Given the description of an element on the screen output the (x, y) to click on. 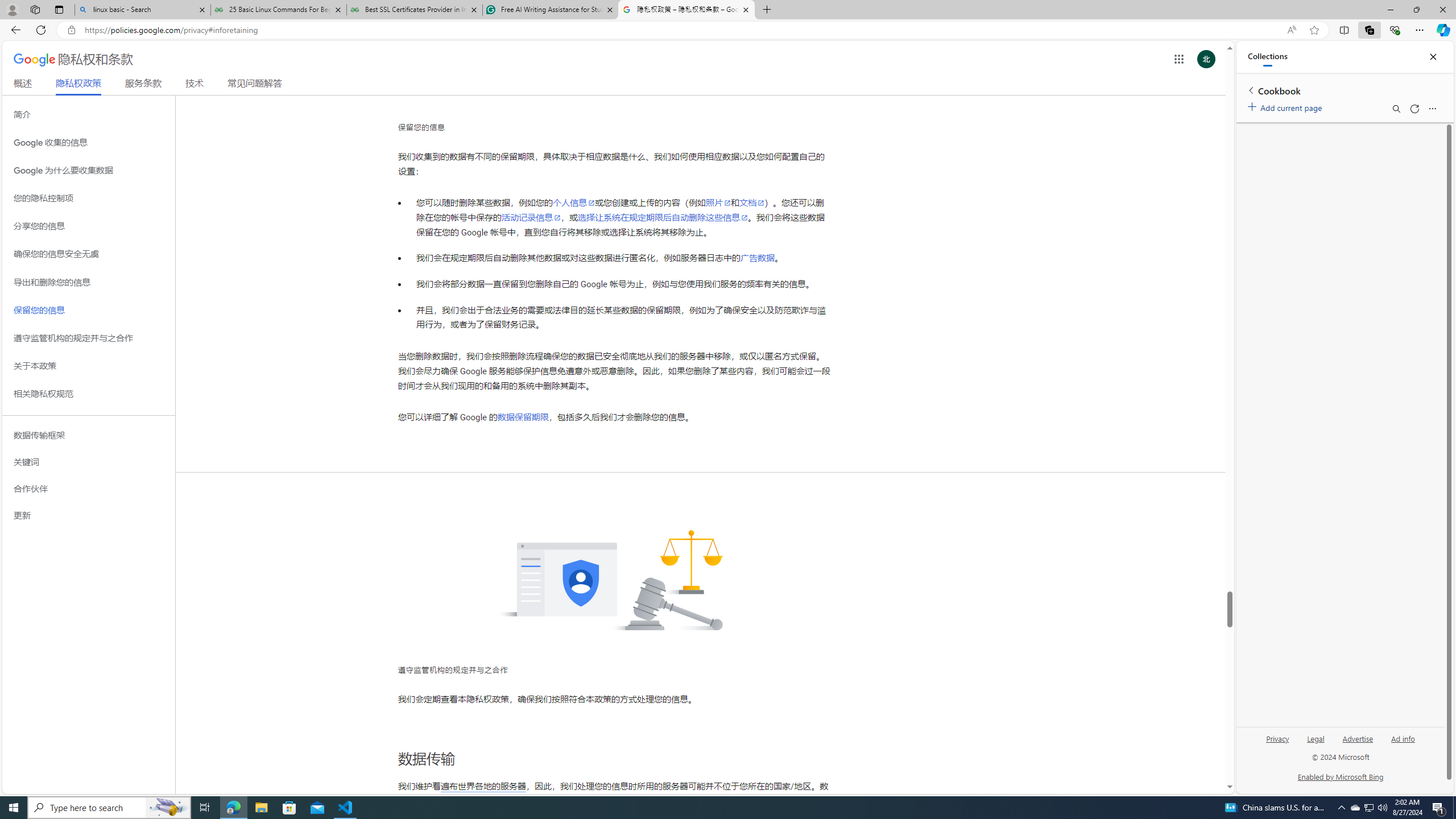
Back to list of collections (1250, 90)
linux basic - Search (142, 9)
Best SSL Certificates Provider in India - GeeksforGeeks (414, 9)
